Given the description of an element on the screen output the (x, y) to click on. 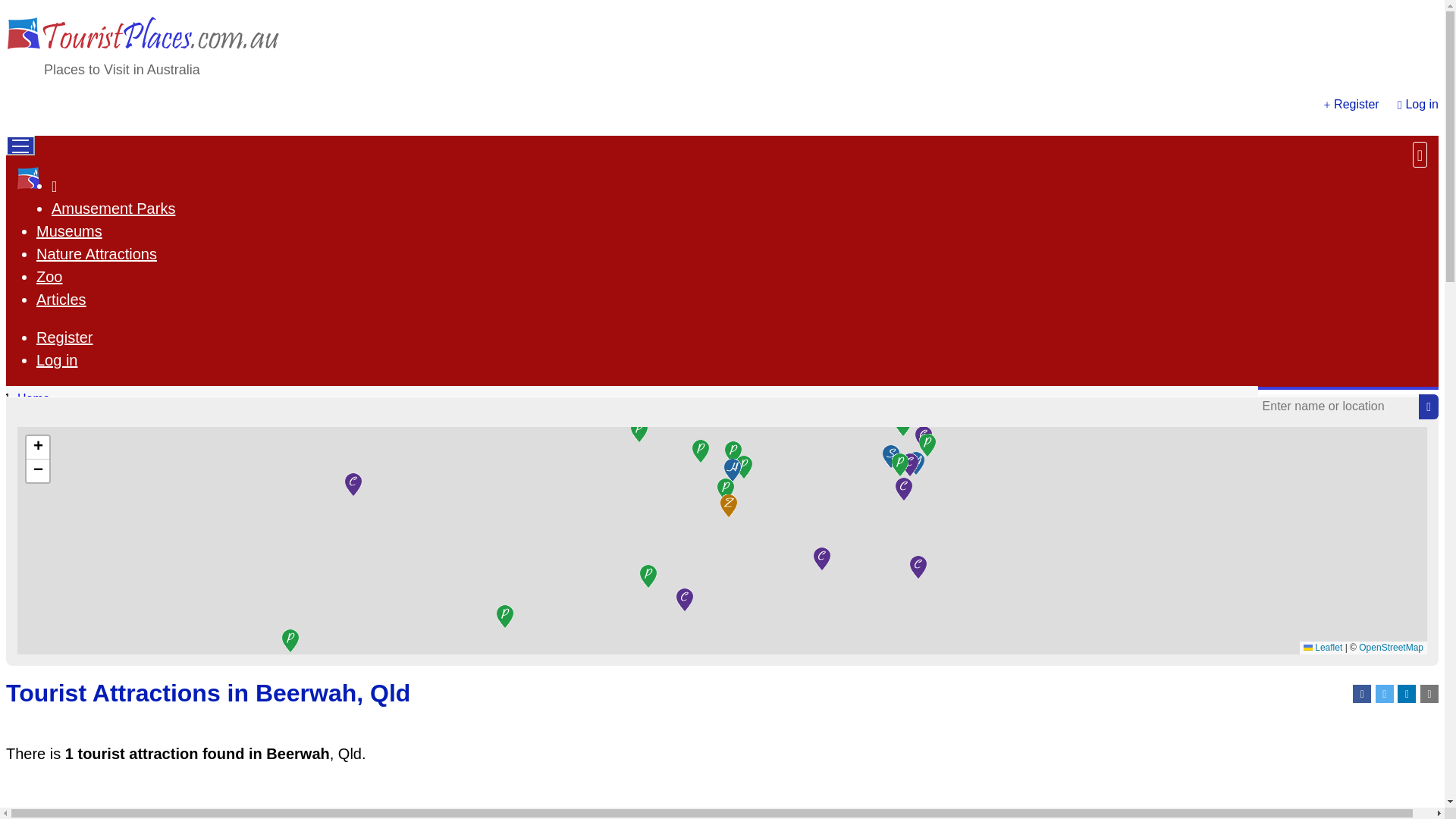
Amusement Parks (112, 208)
Search (1428, 406)
Log in (57, 360)
A JavaScript library for interactive maps (1322, 647)
Leaflet (1322, 647)
Home (53, 185)
Search (1428, 407)
Zoom out (37, 470)
Register (1355, 103)
Zoo (49, 276)
www.touristplaces.com.au (28, 181)
Nature Attractions (96, 253)
Places to Visit in Australia (121, 69)
Home page (53, 185)
Articles (60, 299)
